Given the description of an element on the screen output the (x, y) to click on. 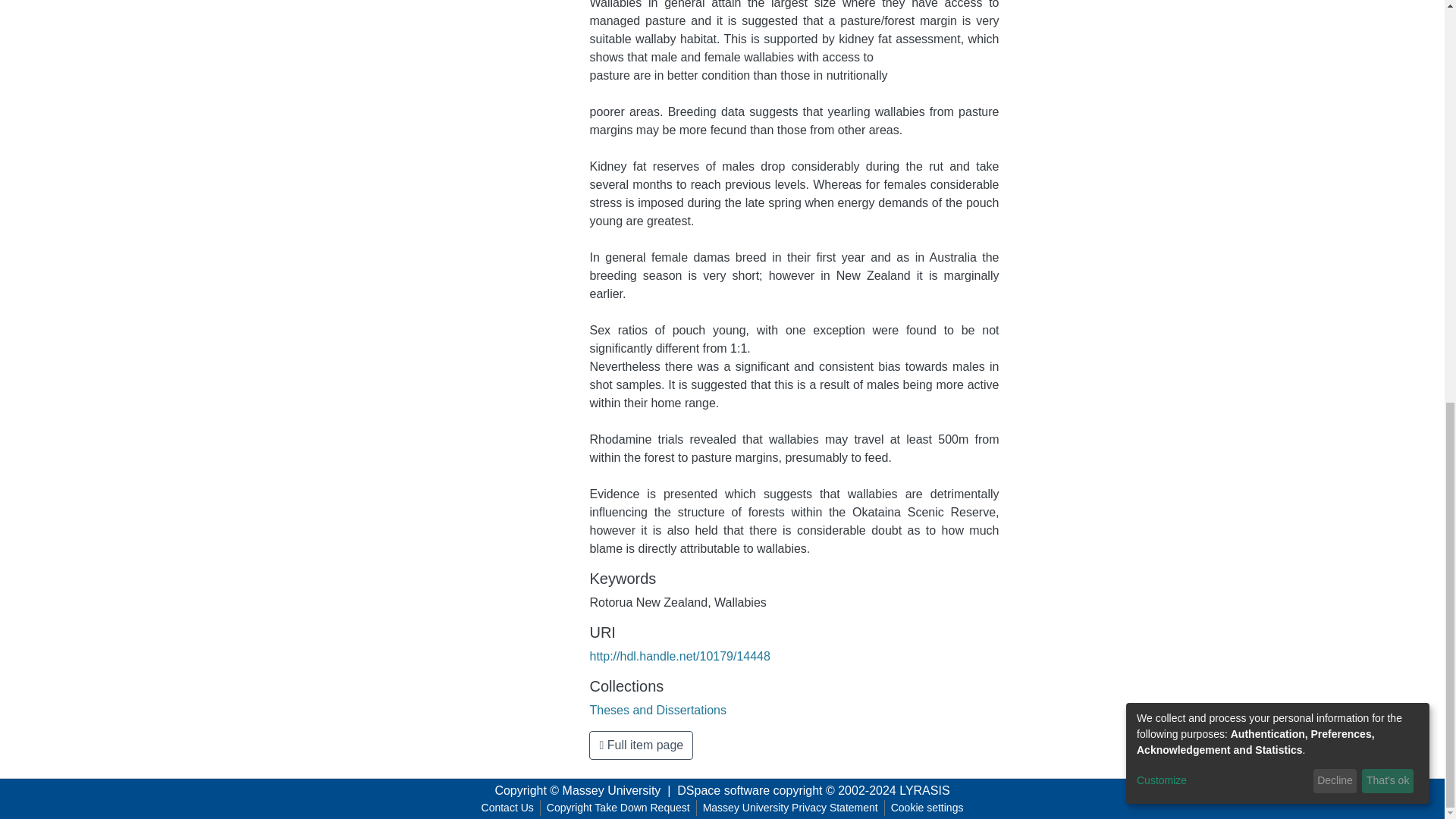
DSpace software (723, 789)
Theses and Dissertations (657, 709)
Full item page (641, 745)
LYRASIS (924, 789)
Contact Us (508, 807)
